Given the description of an element on the screen output the (x, y) to click on. 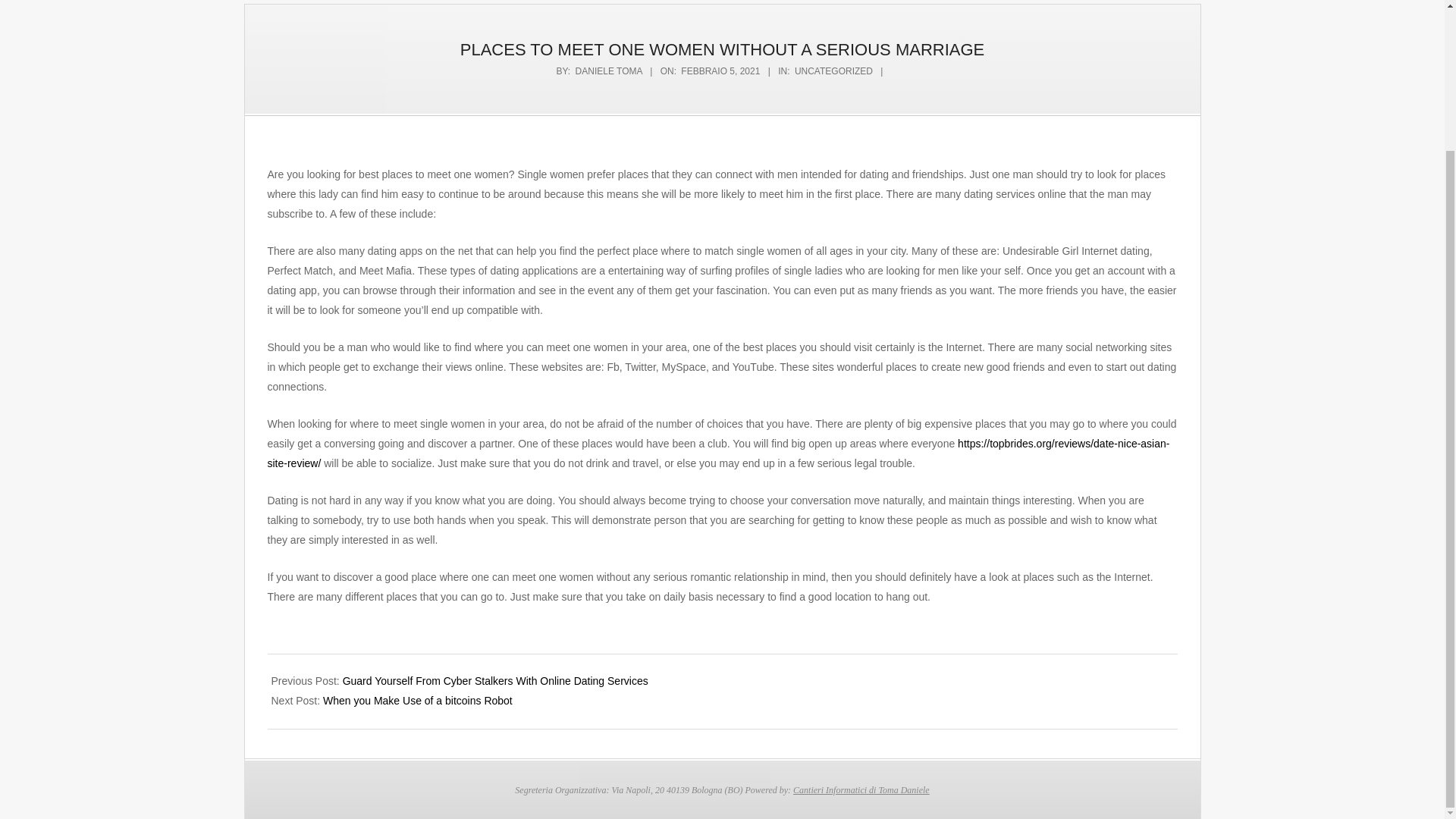
DANIELE TOMA (608, 71)
When you Make Use of a bitcoins Robot (417, 700)
Articoli scritti da Daniele Toma (608, 71)
UNCATEGORIZED (833, 71)
Cantieri Informatici di Toma Daniele (861, 789)
